Given the description of an element on the screen output the (x, y) to click on. 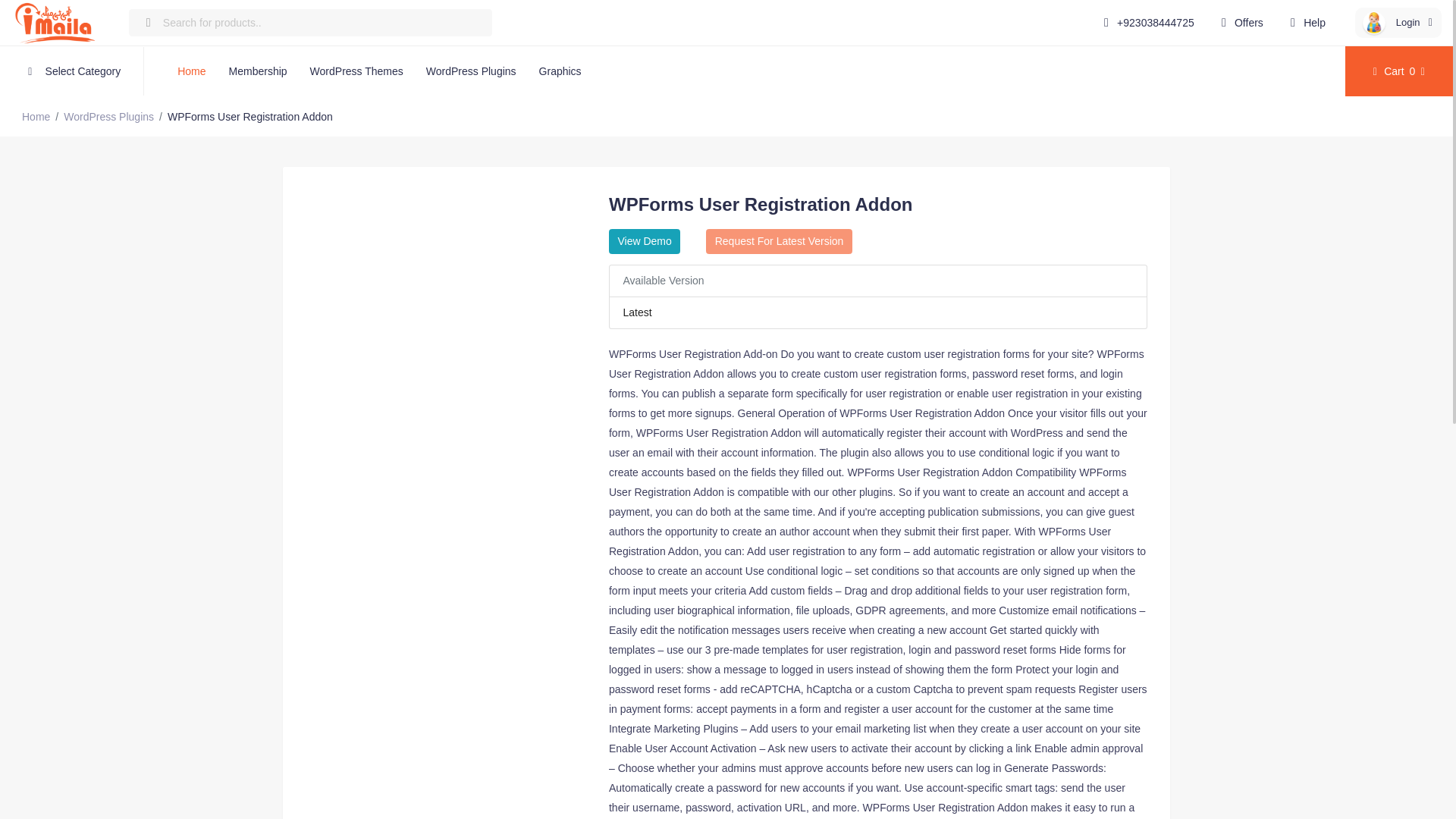
Home (190, 71)
Graphics (559, 71)
WordPress Themes (356, 71)
Categories (72, 70)
Request For Latest Version (778, 241)
Membership (257, 71)
Home (35, 116)
Help (1304, 22)
Offers (1239, 22)
WordPress Plugins (470, 71)
